Given the description of an element on the screen output the (x, y) to click on. 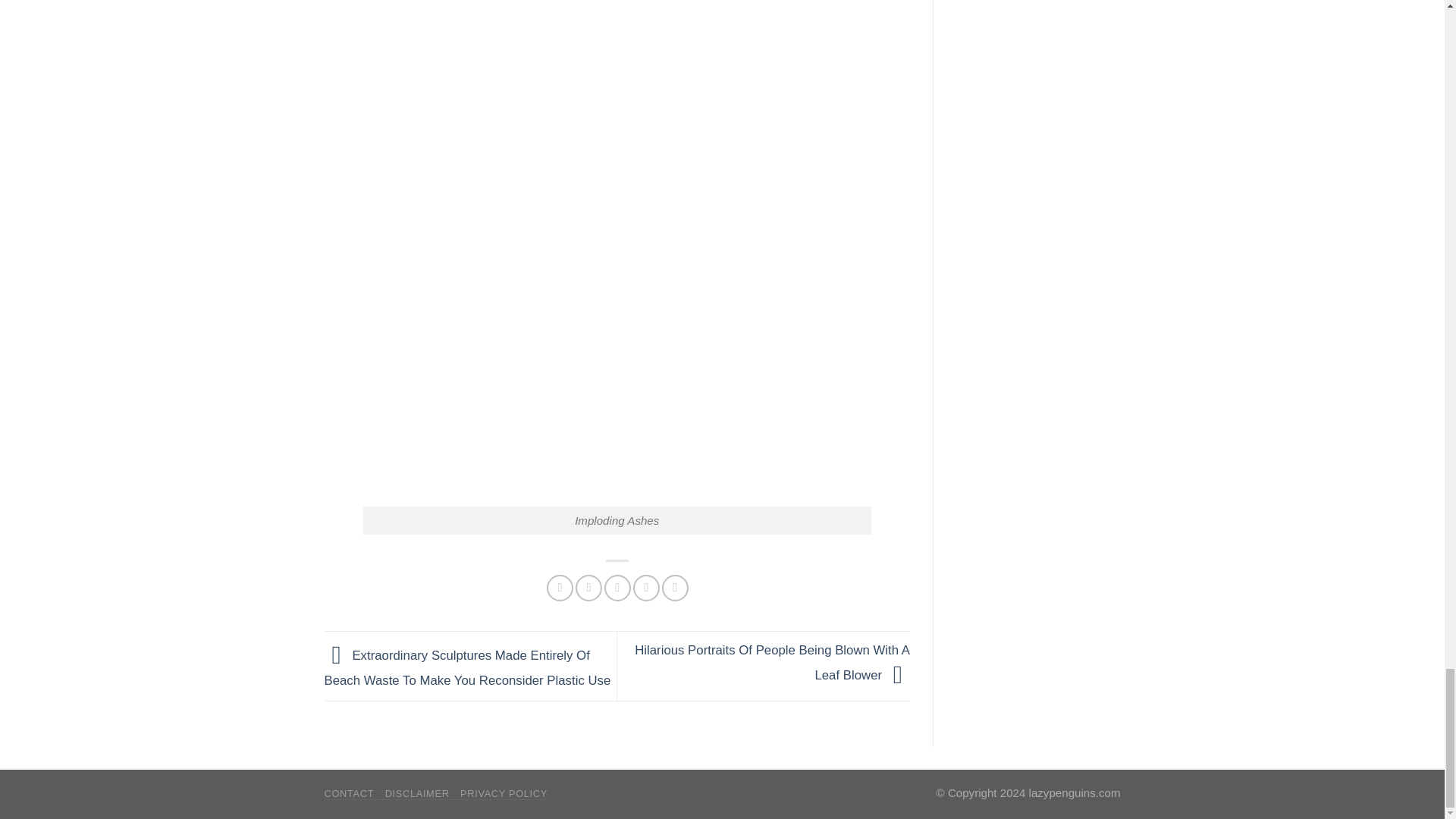
Email to a Friend (617, 587)
Share on LinkedIn (675, 587)
Share on Facebook (560, 587)
Pin on Pinterest (646, 587)
Share on Twitter (588, 587)
